Given the description of an element on the screen output the (x, y) to click on. 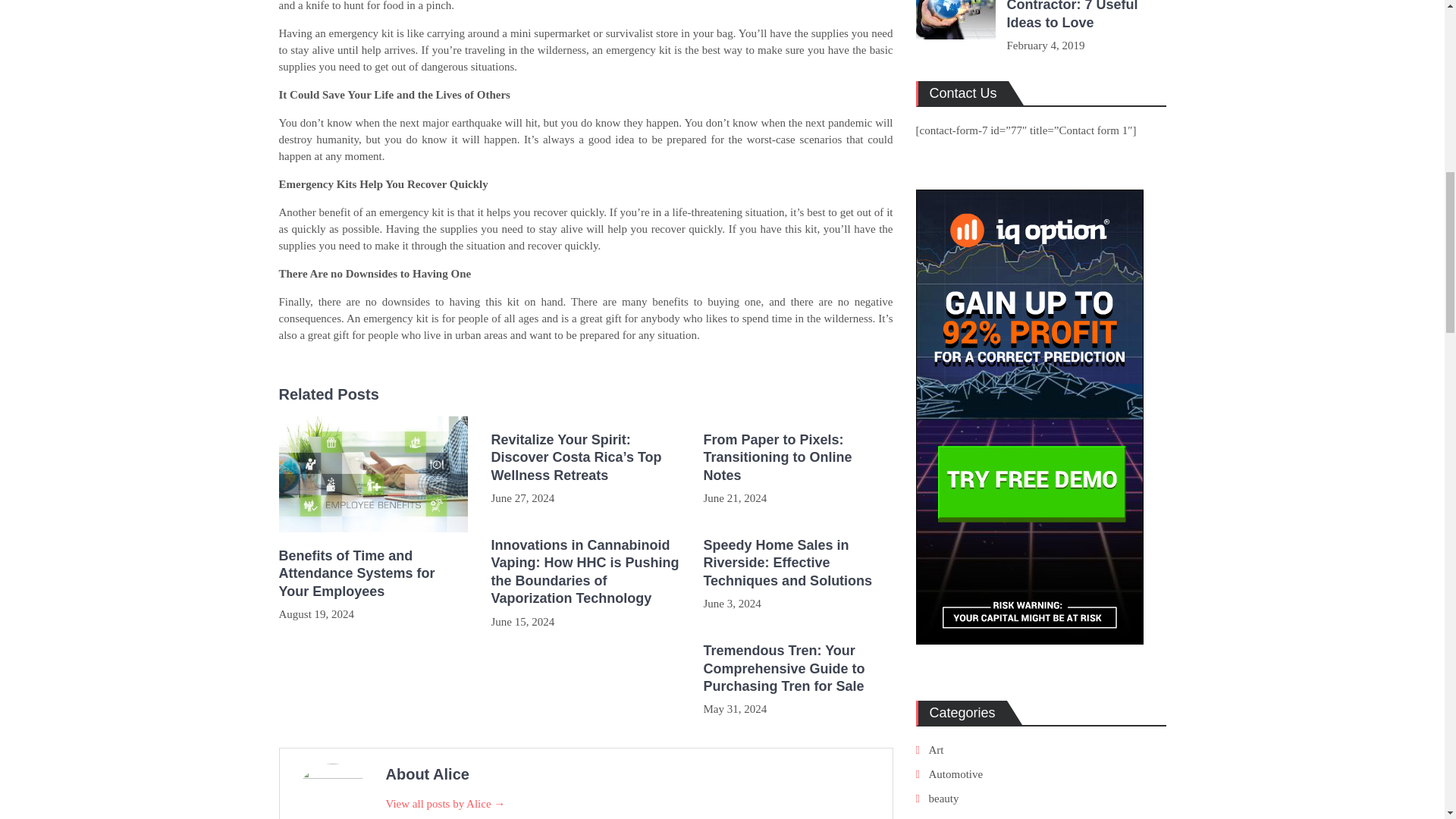
From Paper to Pixels: Transitioning to Online Notes (797, 457)
Benefits of Time and Attendance Systems for Your Employees (373, 573)
